Given the description of an element on the screen output the (x, y) to click on. 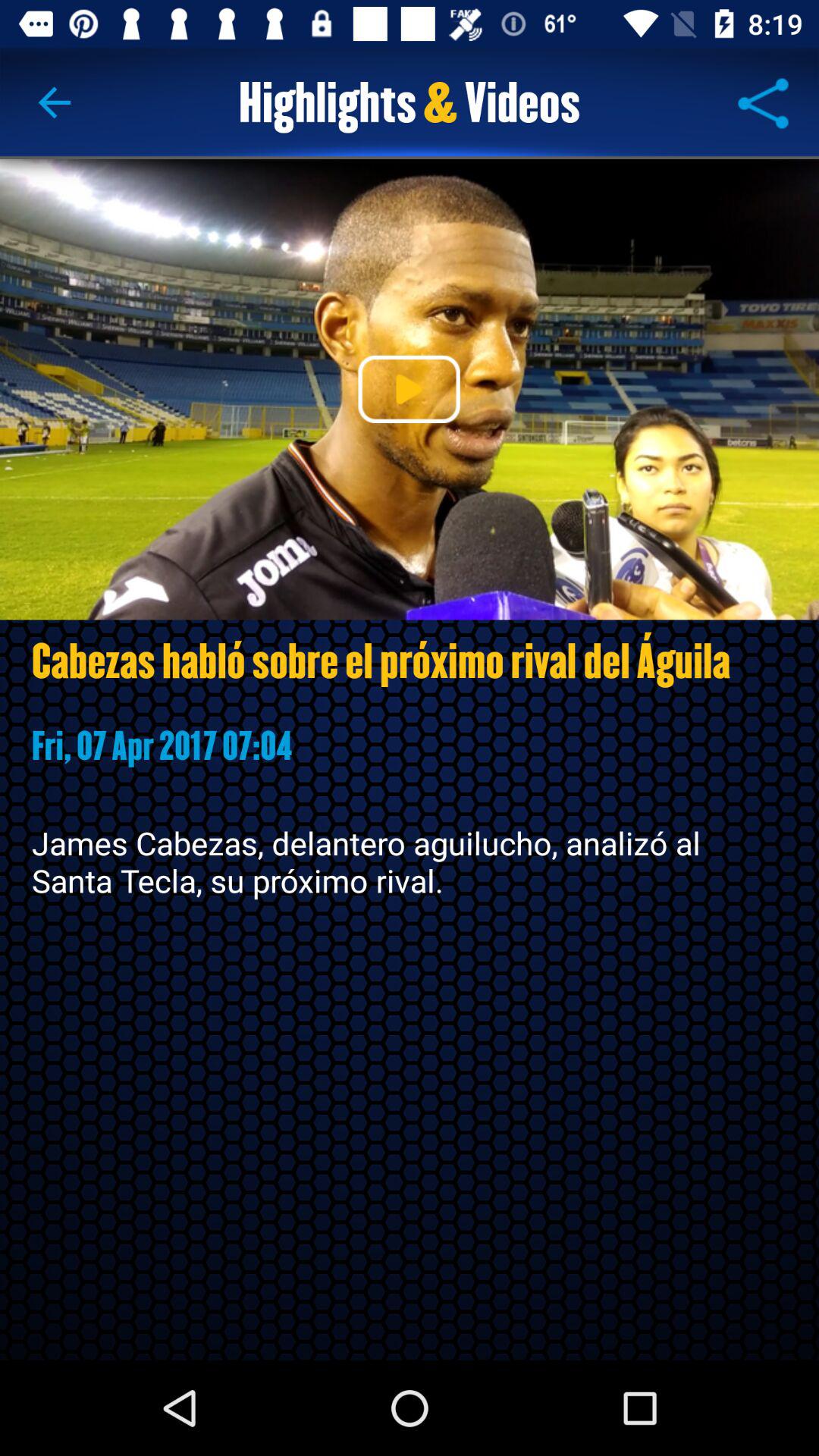
play (409, 389)
